Given the description of an element on the screen output the (x, y) to click on. 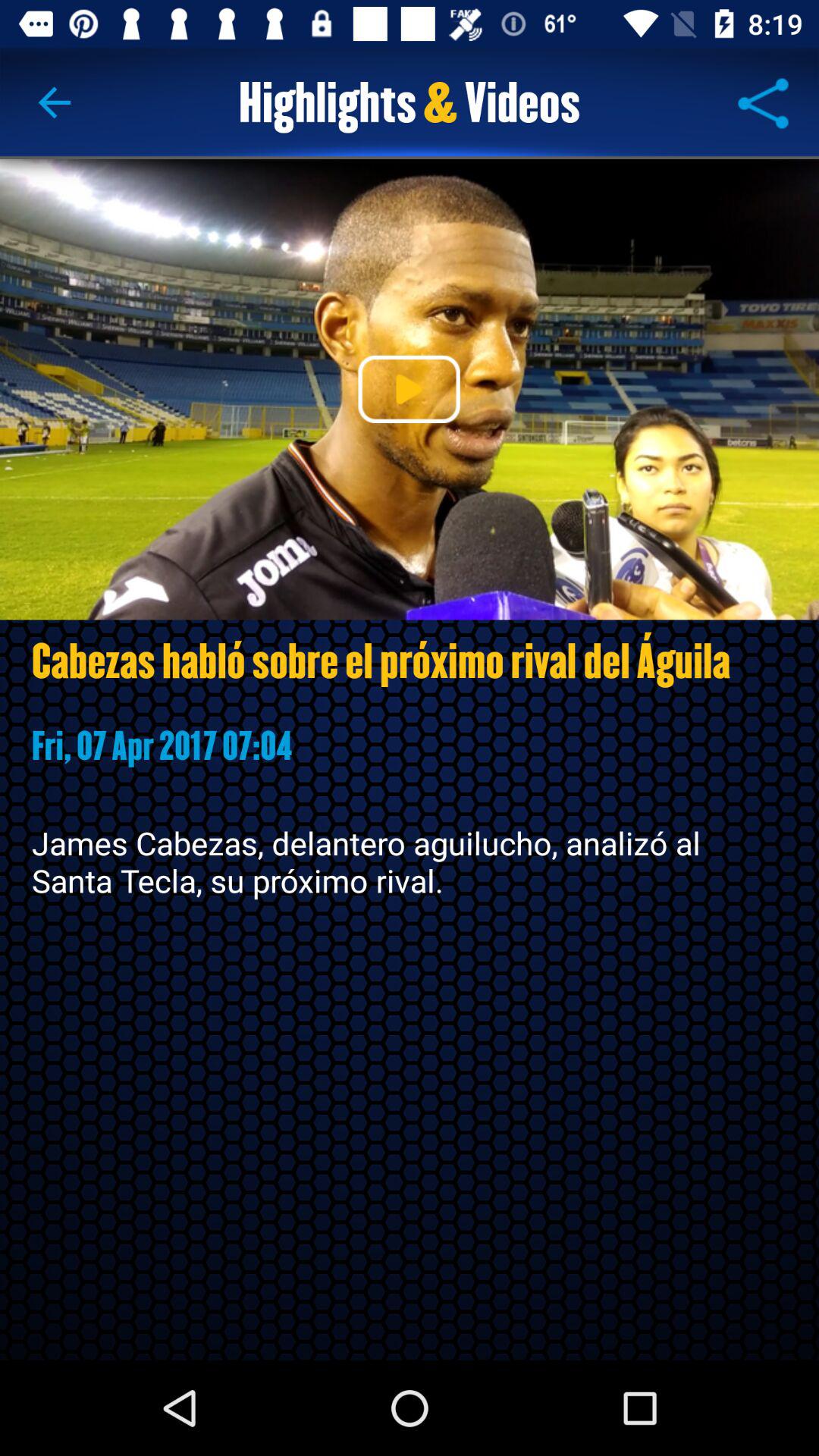
play (409, 389)
